Given the description of an element on the screen output the (x, y) to click on. 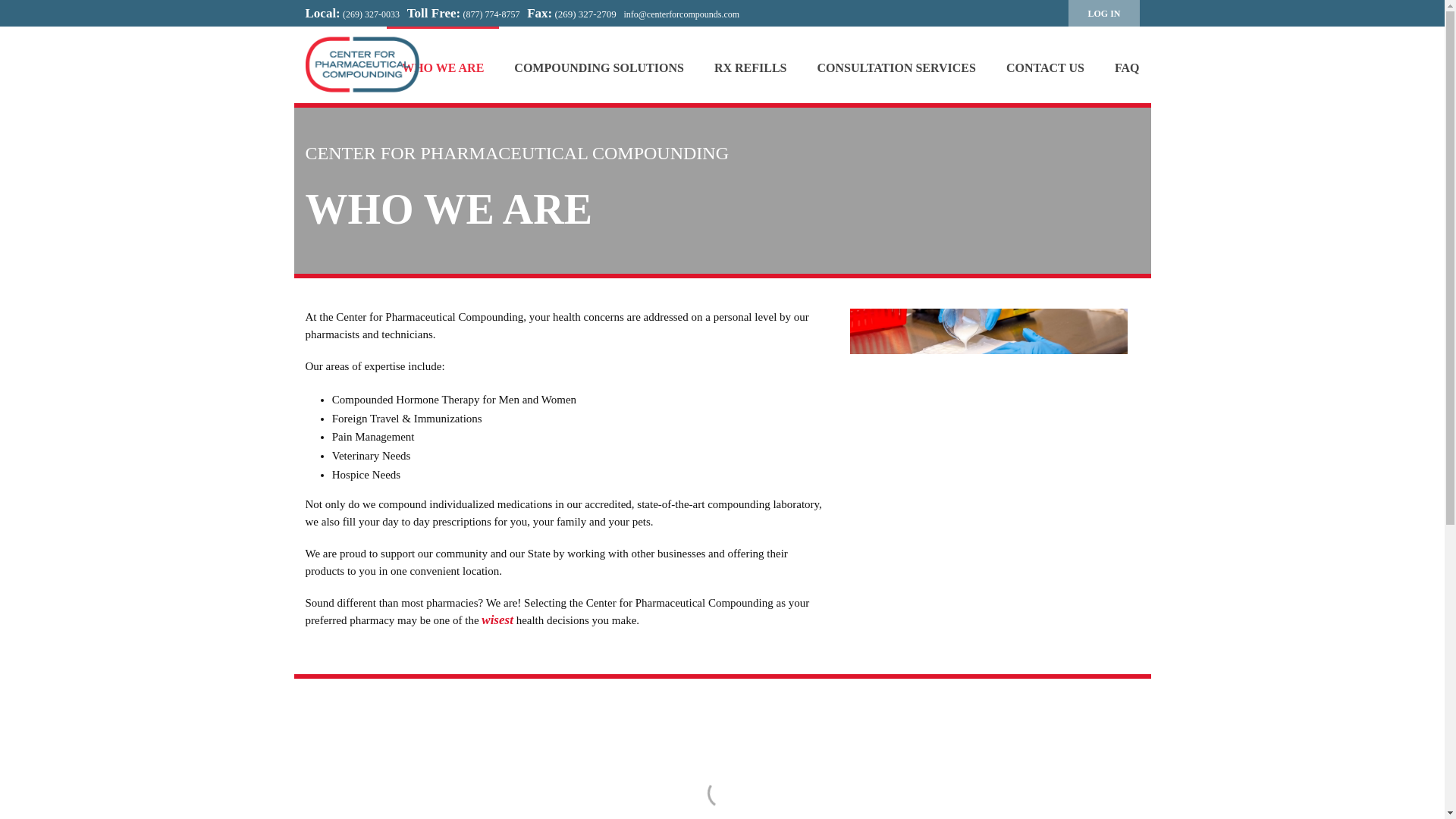
CONSULTATION SERVICES (896, 64)
COMPOUNDING SOLUTIONS (598, 64)
RX REFILLS (750, 64)
COMPOUNDING SOLUTIONS (598, 64)
POWERFUL MEDICINE CUSTOMIZED FOR YOU (361, 64)
LOG IN (1103, 13)
CONTACT US (1045, 64)
WHO WE ARE (443, 64)
CONSULTATION SERVICES (896, 64)
WHO WE ARE (443, 64)
